Given the description of an element on the screen output the (x, y) to click on. 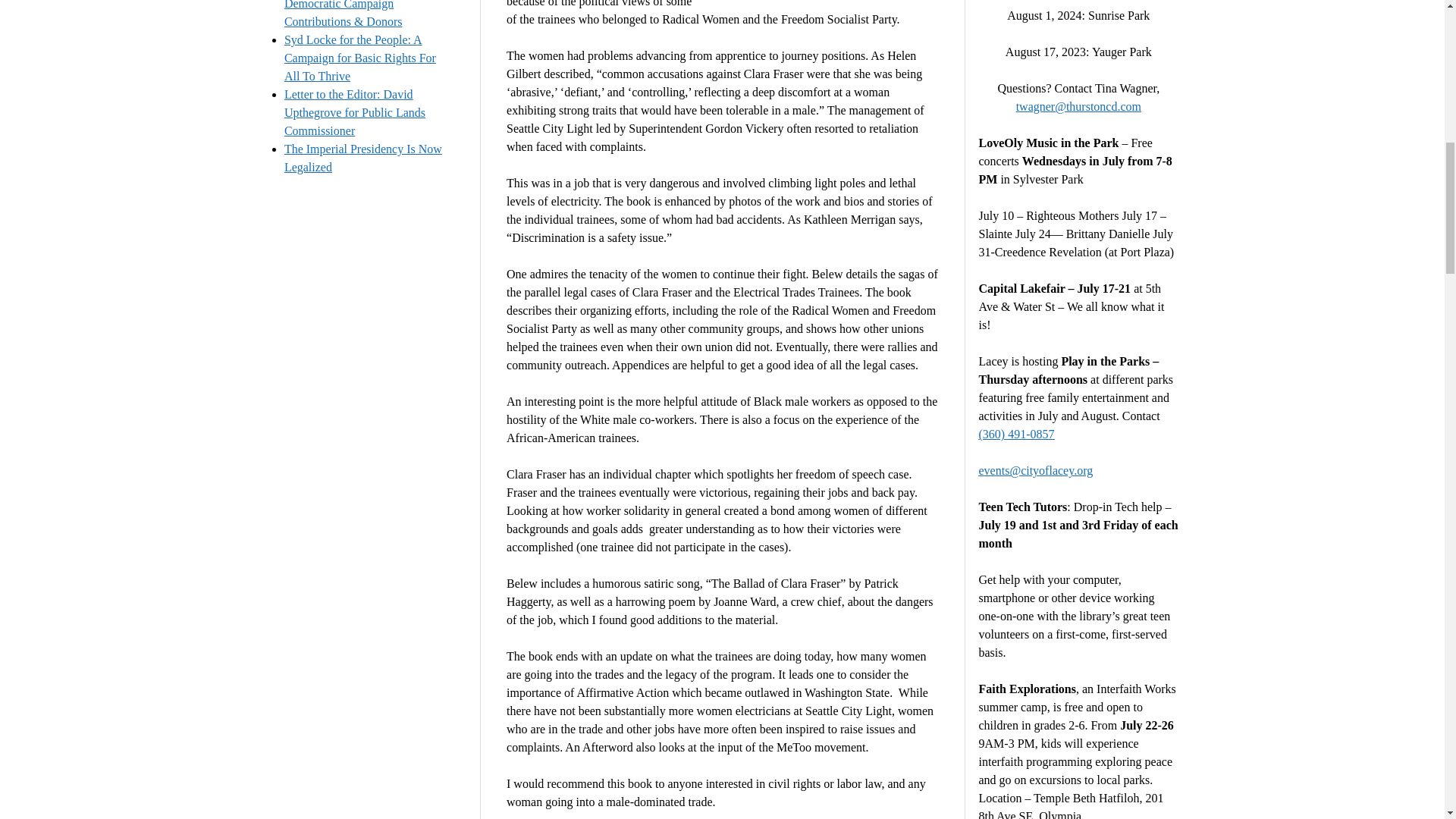
The Imperial Presidency Is Now Legalized (362, 157)
